Given the description of an element on the screen output the (x, y) to click on. 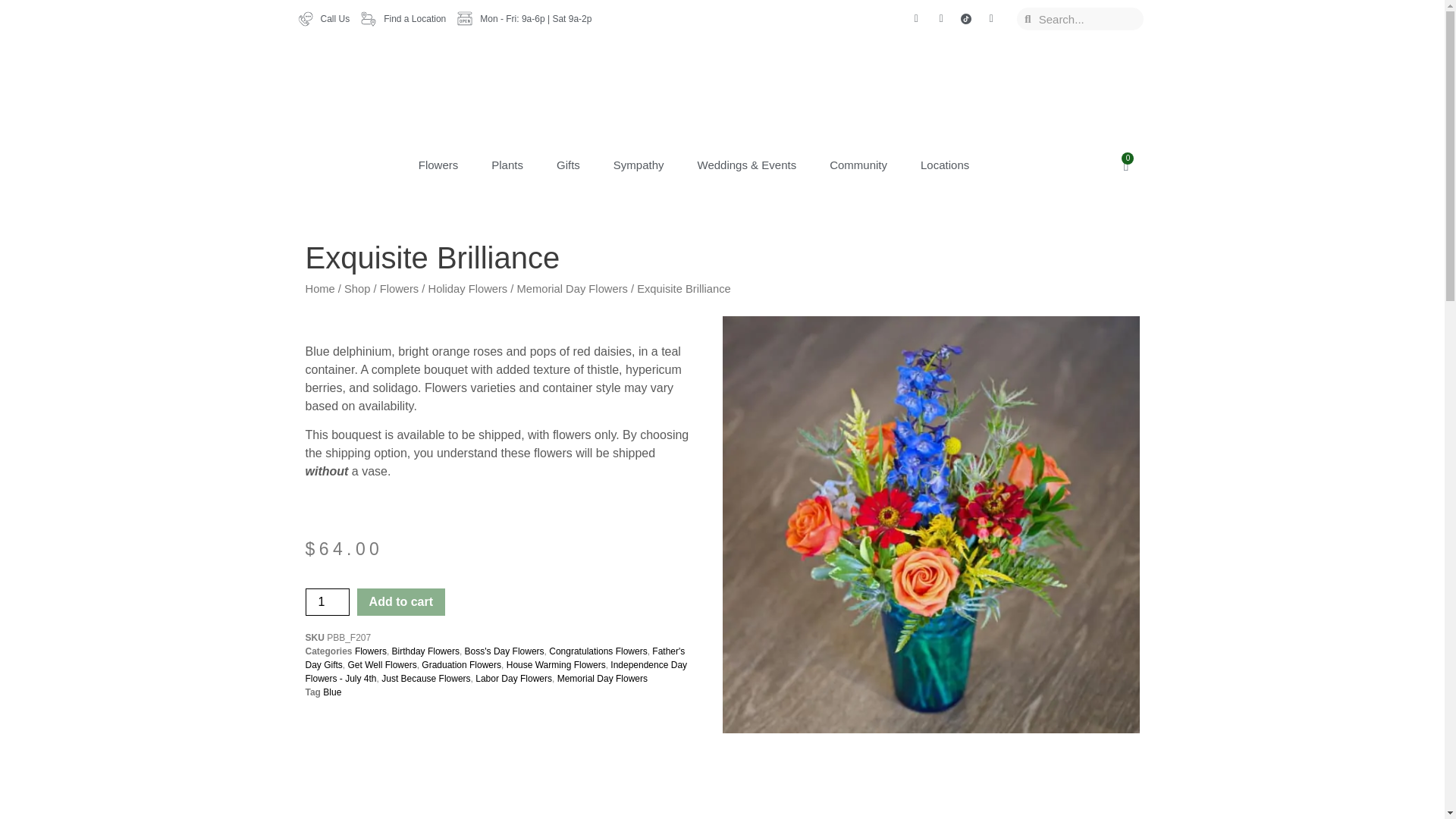
Call Us (323, 18)
Find a Location (403, 18)
Flowers (438, 164)
Plants (507, 164)
1 (326, 601)
